Given the description of an element on the screen output the (x, y) to click on. 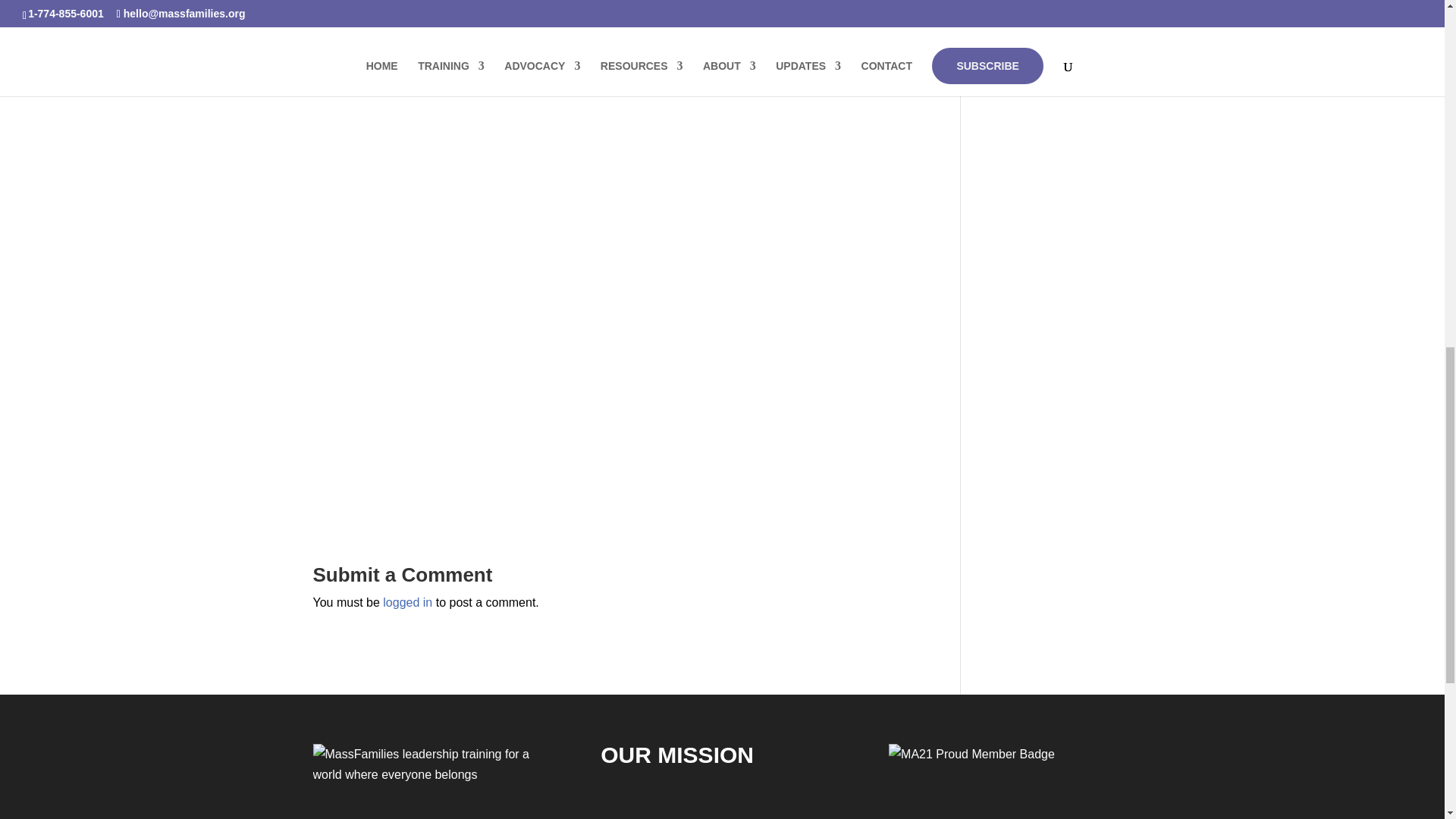
logged in (407, 602)
